Given the description of an element on the screen output the (x, y) to click on. 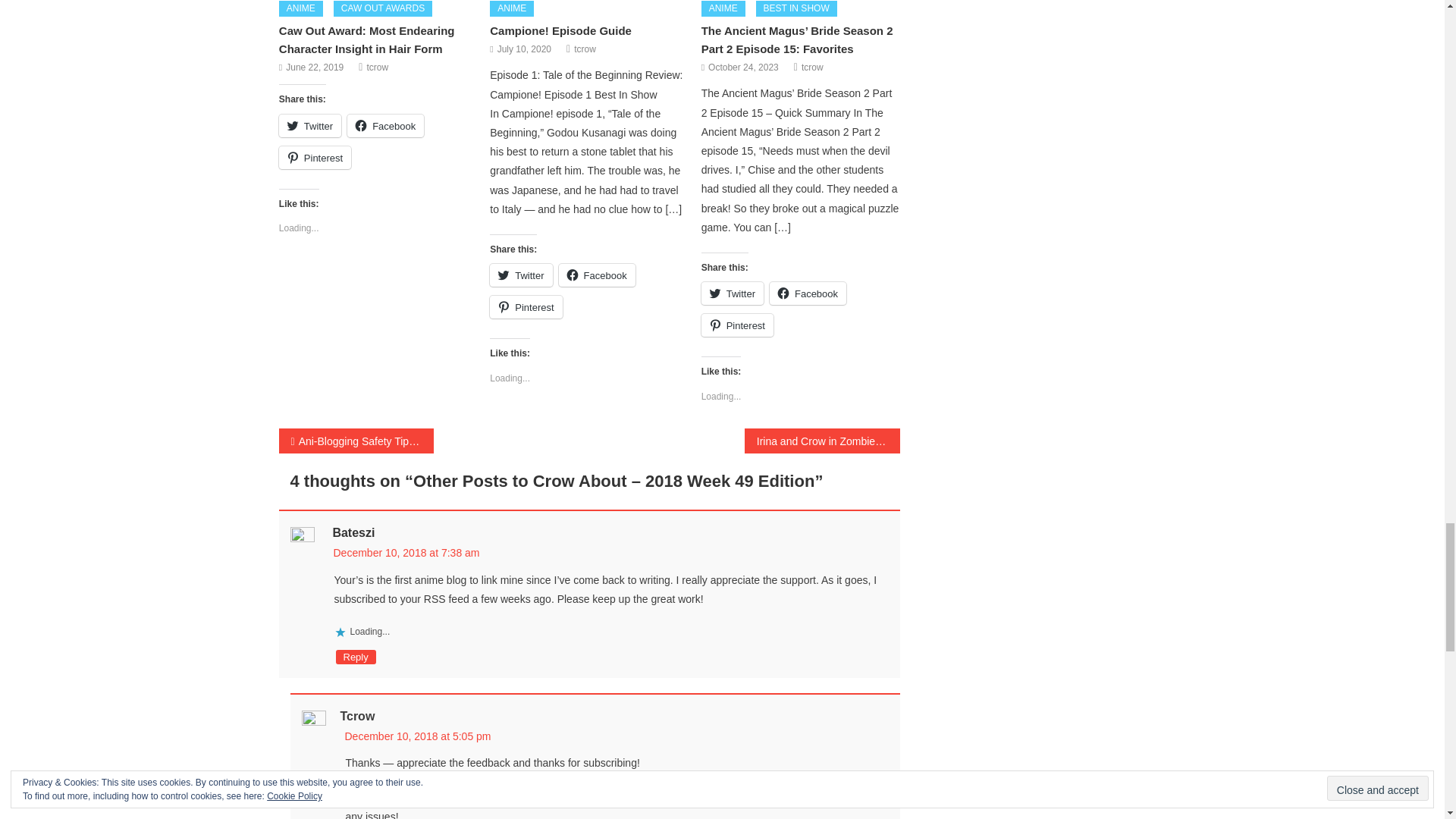
Click to share on Pinterest (314, 157)
Click to share on Facebook (385, 125)
Click to share on Twitter (309, 125)
